Given the description of an element on the screen output the (x, y) to click on. 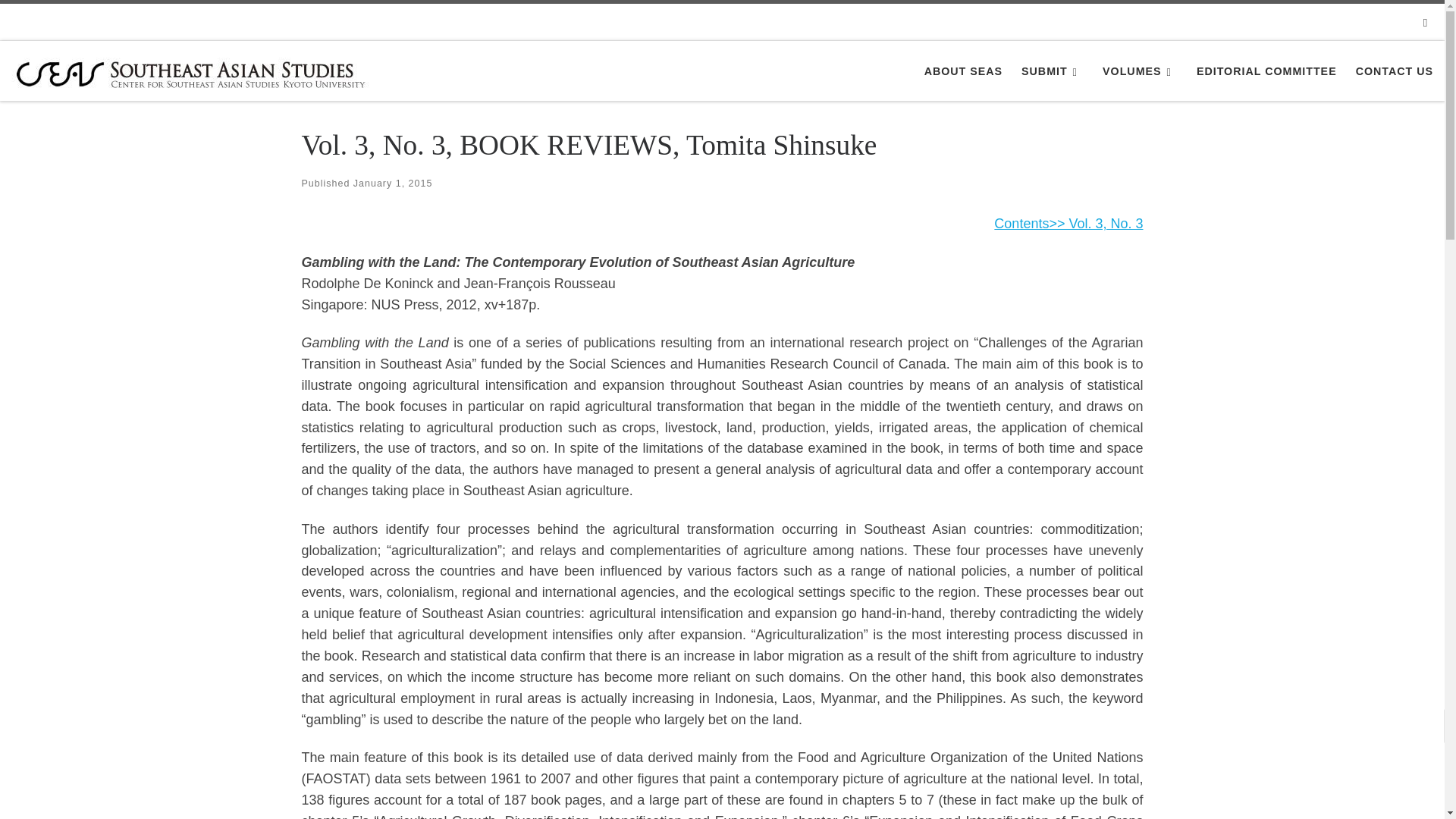
CONTACT US (1394, 70)
SUBMIT (1052, 70)
EDITORIAL COMMITTEE (1266, 70)
Skip to content (60, 20)
ABOUT SEAS (962, 70)
VOLUMES (1139, 70)
